Given the description of an element on the screen output the (x, y) to click on. 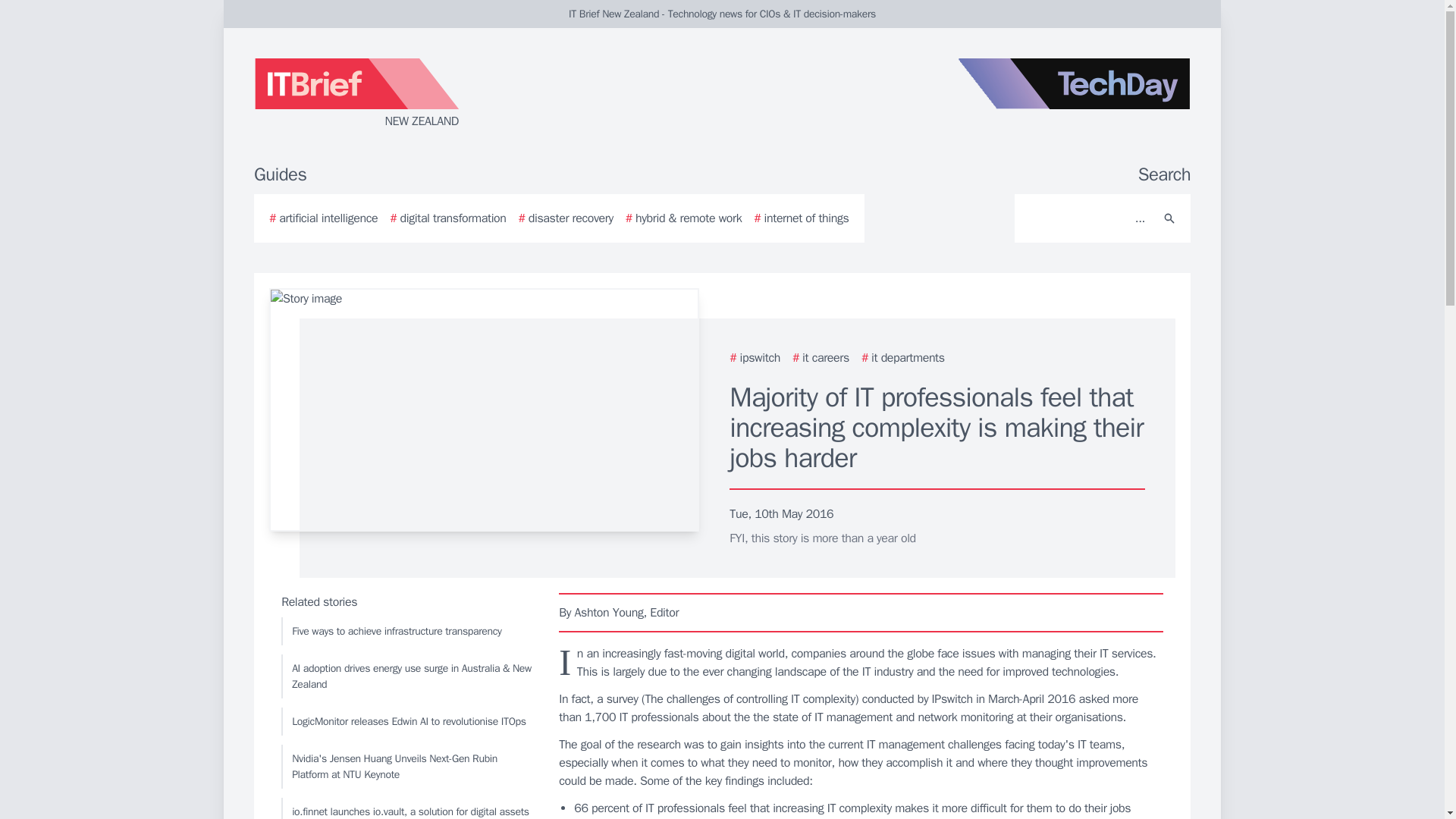
NEW ZEALAND (435, 94)
io.finnet launches io.vault, a solution for digital assets (406, 808)
By Ashton Young, Editor (861, 612)
LogicMonitor releases Edwin AI to revolutionise ITOps (406, 721)
Five ways to achieve infrastructure transparency (406, 631)
